Given the description of an element on the screen output the (x, y) to click on. 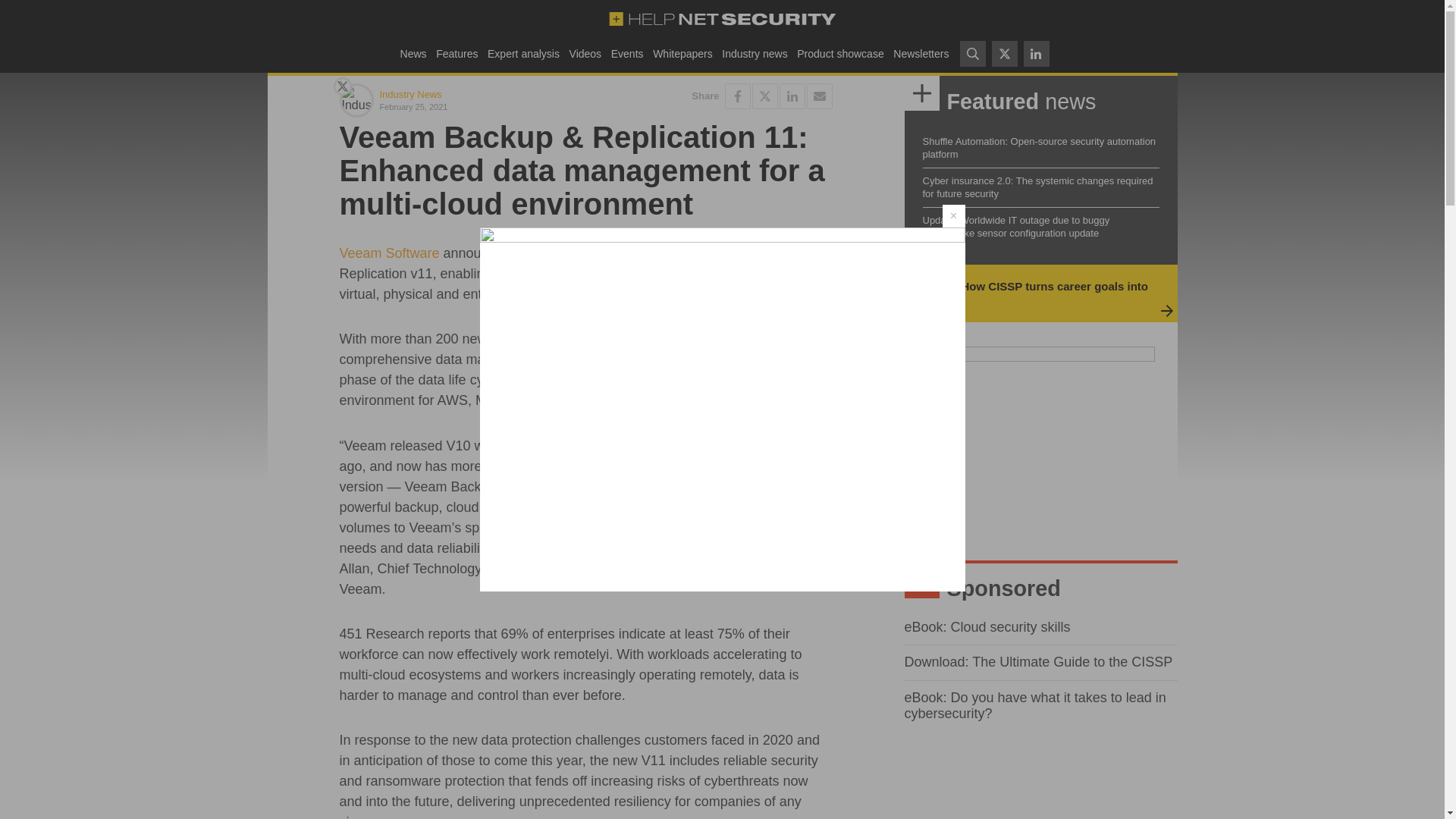
February 25, 2021 (478, 106)
eBook: Do you have what it takes to lead in cybersecurity? (1035, 705)
Download: The Ultimate Guide to the CISSP (1038, 661)
Shuffle Automation: Open-source security automation platform (1038, 147)
Expert analysis (523, 53)
Shuffle Automation: Open-source security automation platform (1038, 147)
News (412, 53)
Whitepapers (682, 53)
Veeam Software (389, 253)
eBook: Cloud security skills (987, 626)
Industry news (754, 53)
Product showcase (840, 53)
Newsletters (920, 53)
